Given the description of an element on the screen output the (x, y) to click on. 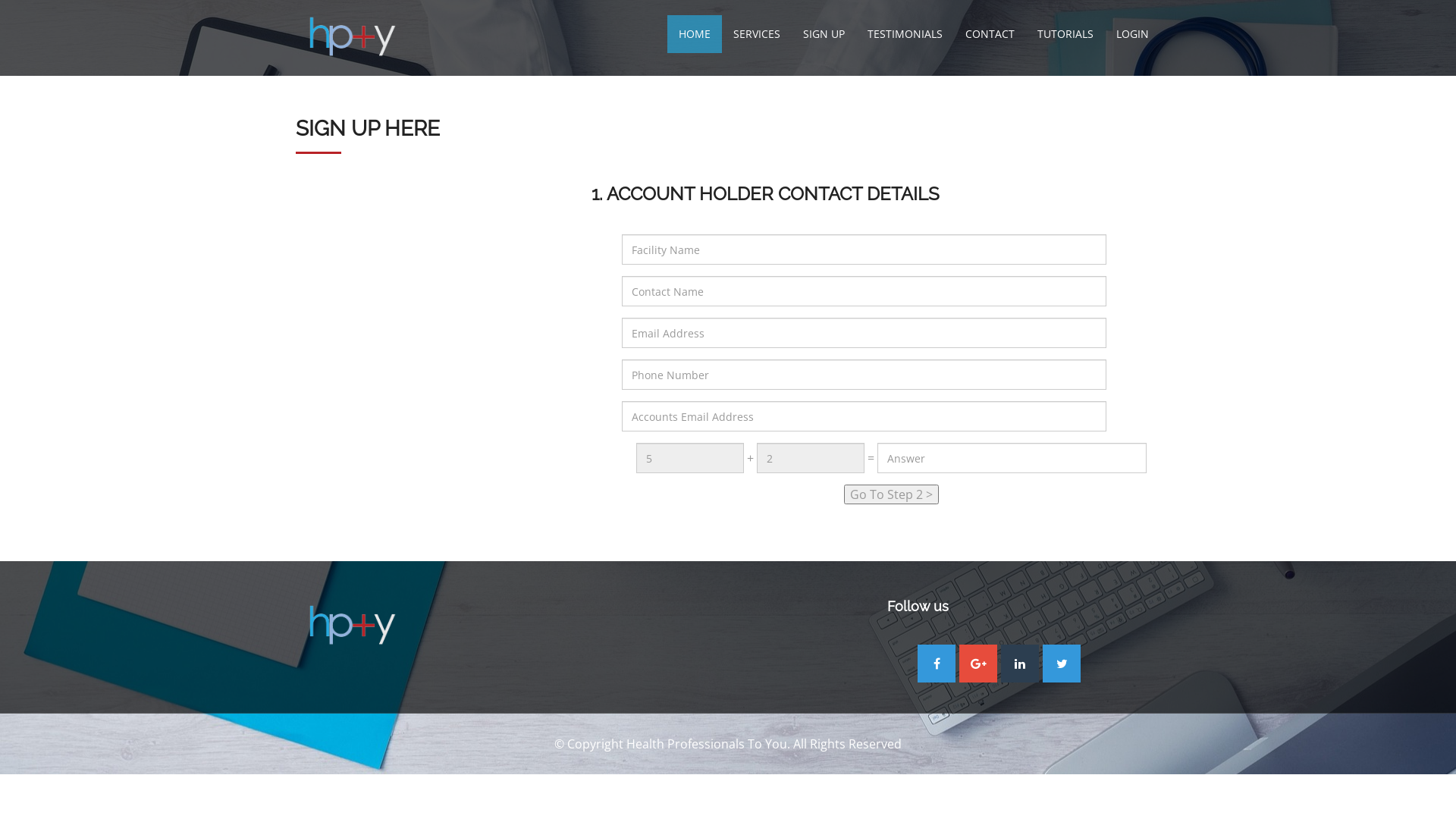
TESTIMONIALS Element type: text (904, 34)
SERVICES Element type: text (756, 34)
Go To Step 2 > Element type: text (890, 494)
SIGN UP Element type: text (823, 34)
LOGIN Element type: text (1132, 34)
HOME Element type: text (694, 34)
CONTACT Element type: text (989, 34)
TUTORIALS Element type: text (1065, 34)
